Given the description of an element on the screen output the (x, y) to click on. 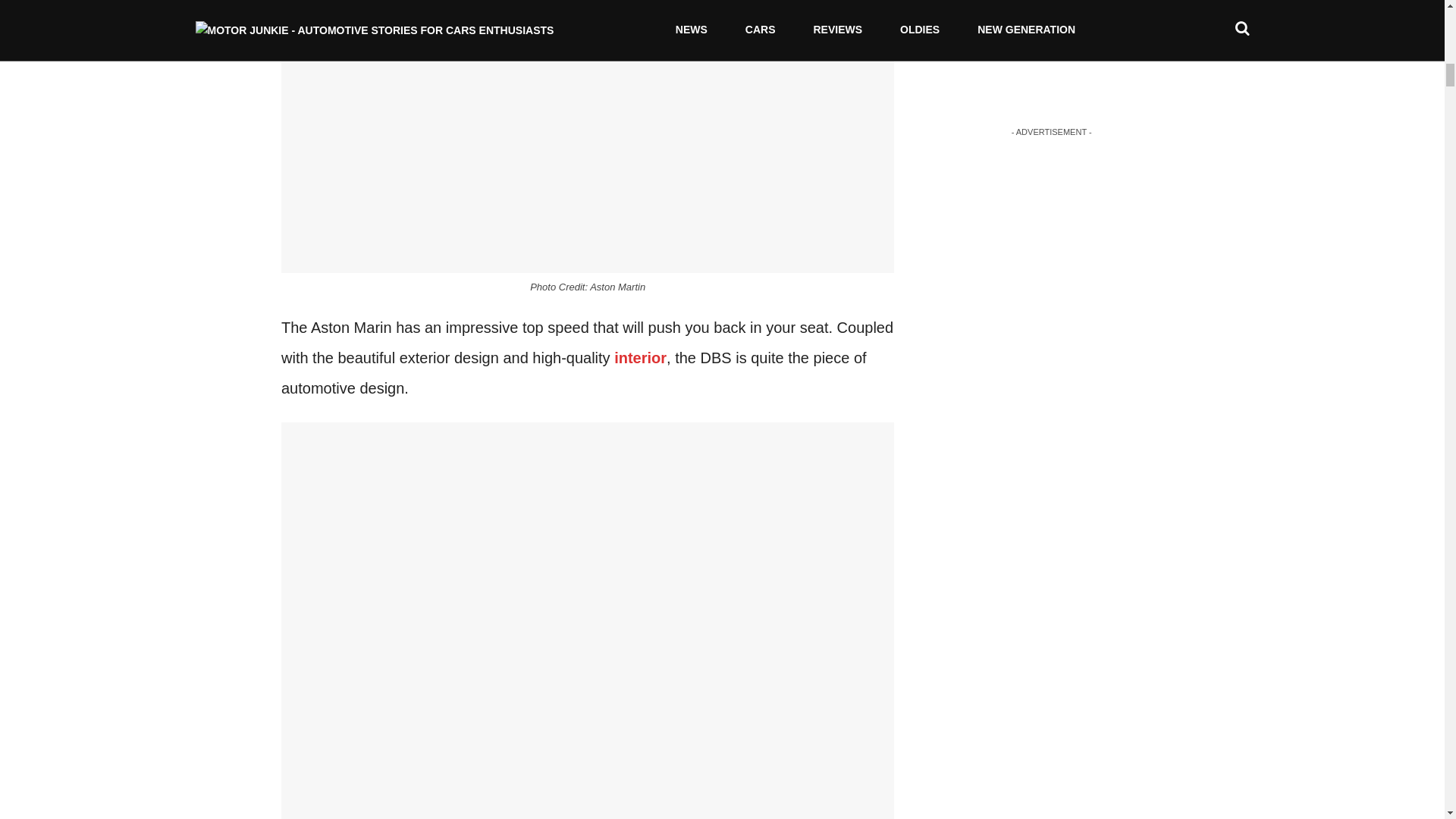
interior (640, 357)
